Given the description of an element on the screen output the (x, y) to click on. 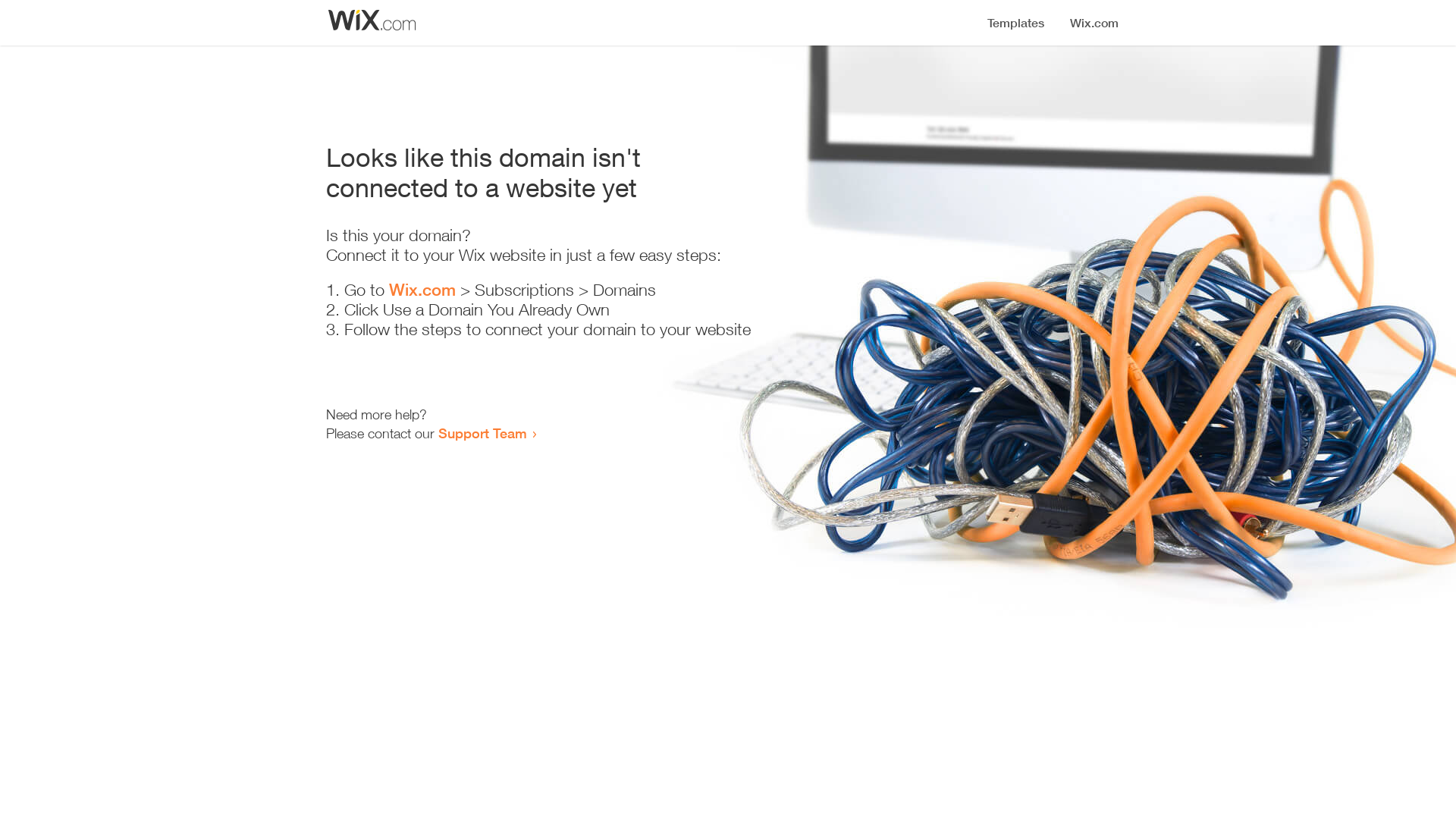
Wix.com Element type: text (422, 289)
Support Team Element type: text (482, 432)
